Given the description of an element on the screen output the (x, y) to click on. 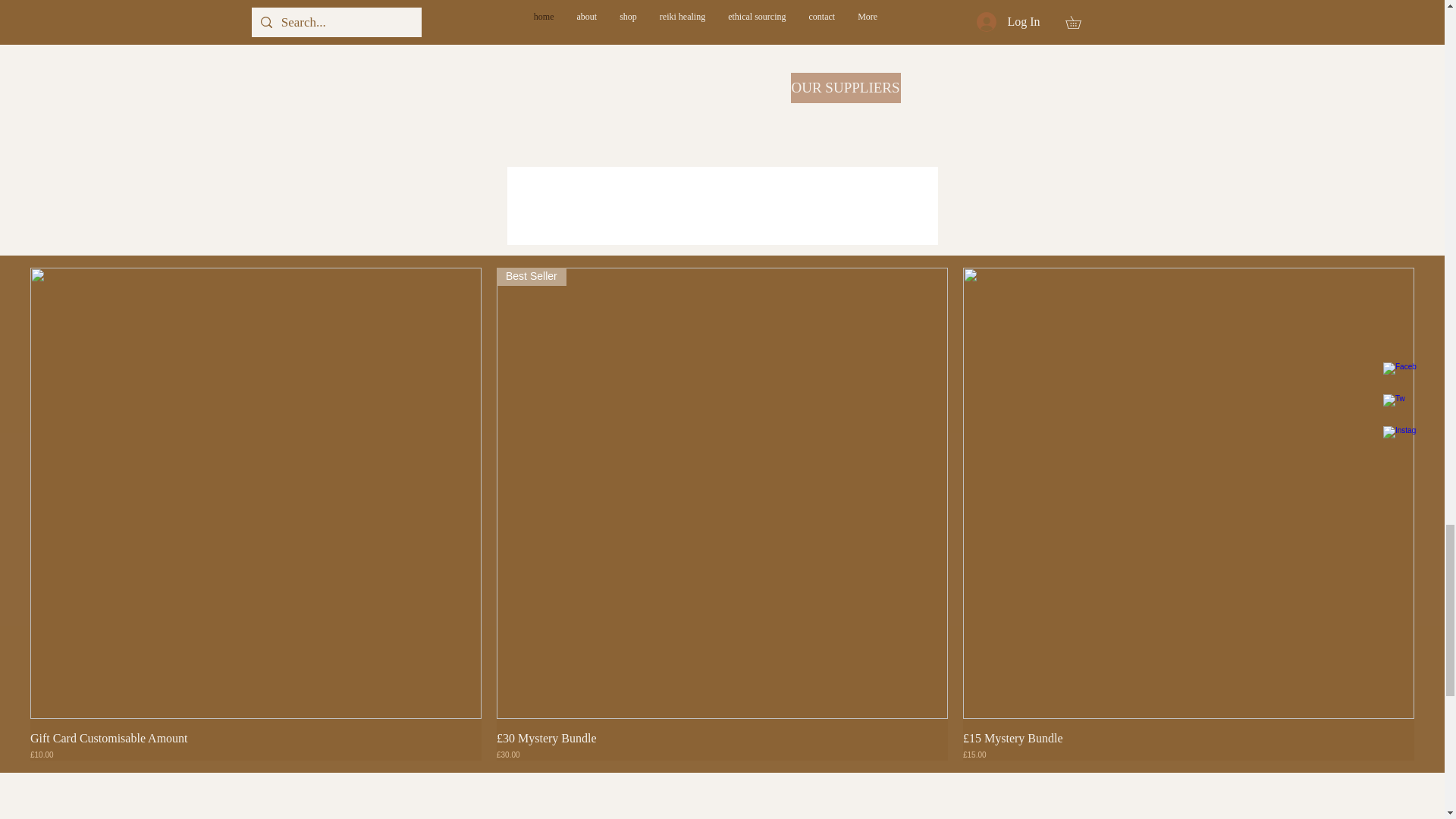
OUR SUPPLIERS (844, 87)
